Given the description of an element on the screen output the (x, y) to click on. 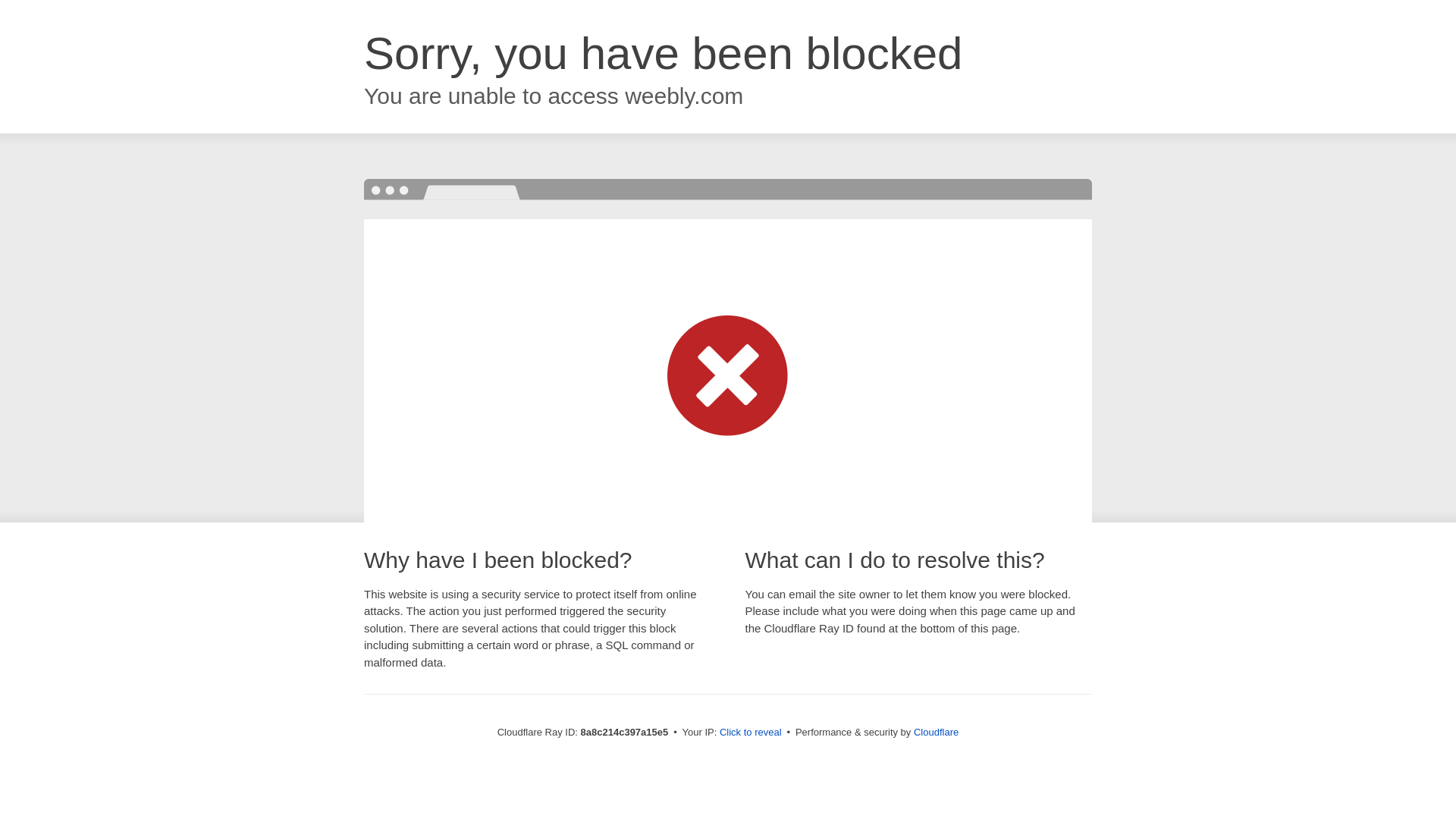
Cloudflare (936, 731)
Click to reveal (750, 732)
